Given the description of an element on the screen output the (x, y) to click on. 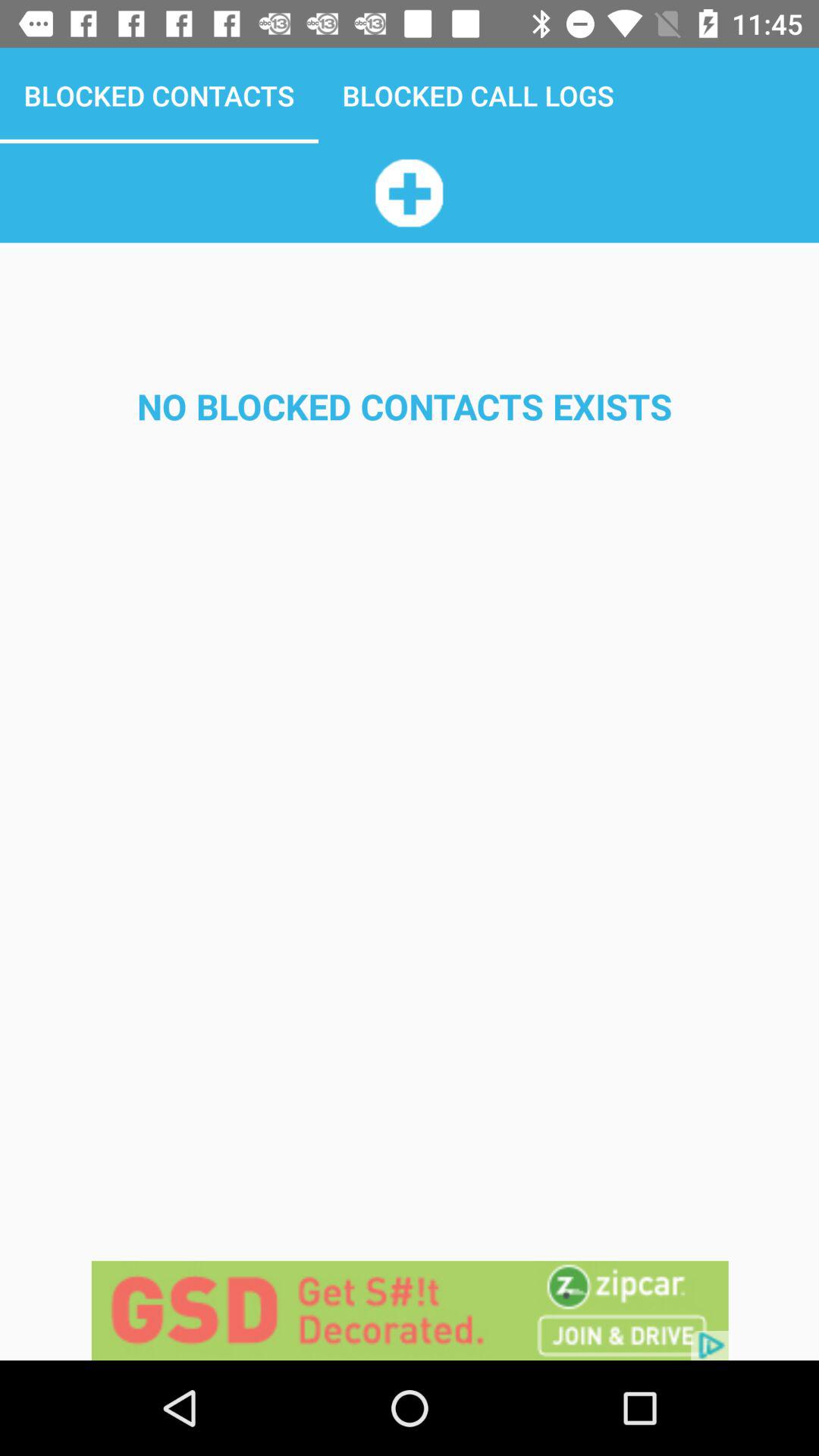
go to increase (409, 193)
